Given the description of an element on the screen output the (x, y) to click on. 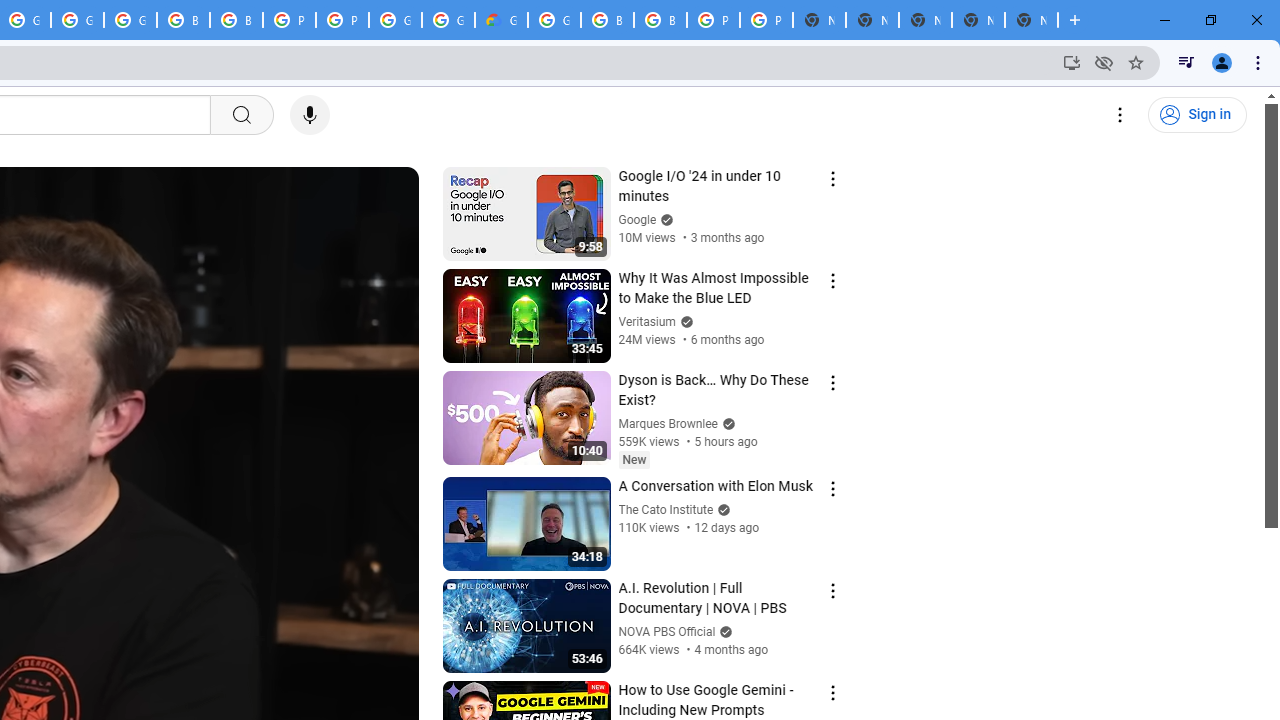
Google Cloud Platform (395, 20)
